Given the description of an element on the screen output the (x, y) to click on. 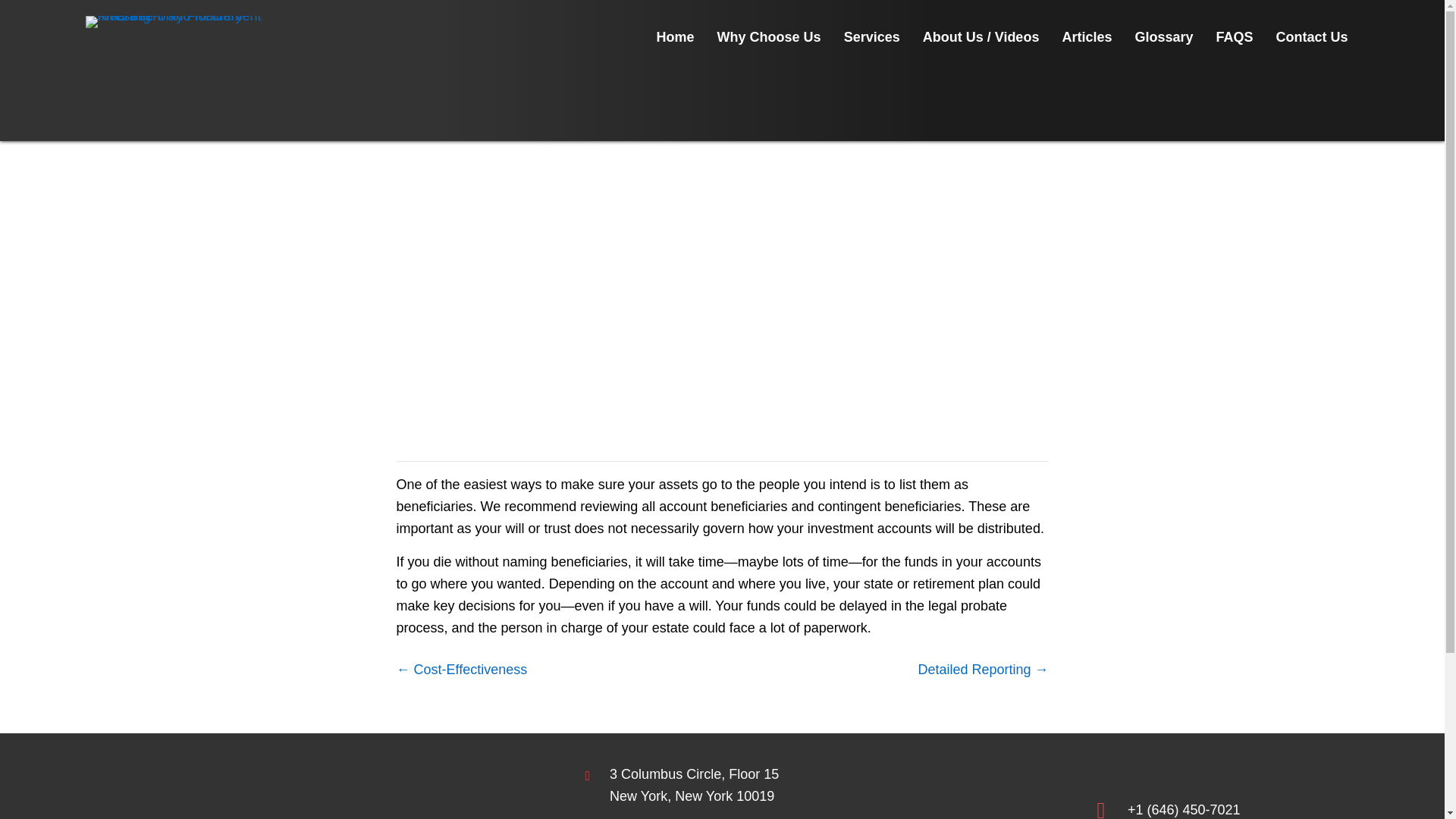
Why Choose Us (769, 33)
Articles (716, 816)
Submit (1086, 33)
FAQS (615, 461)
NYC Fee-only Fiduciary Investment and Retirement Planning (1233, 33)
Home (694, 785)
Glossary (190, 21)
Services (675, 33)
